Given the description of an element on the screen output the (x, y) to click on. 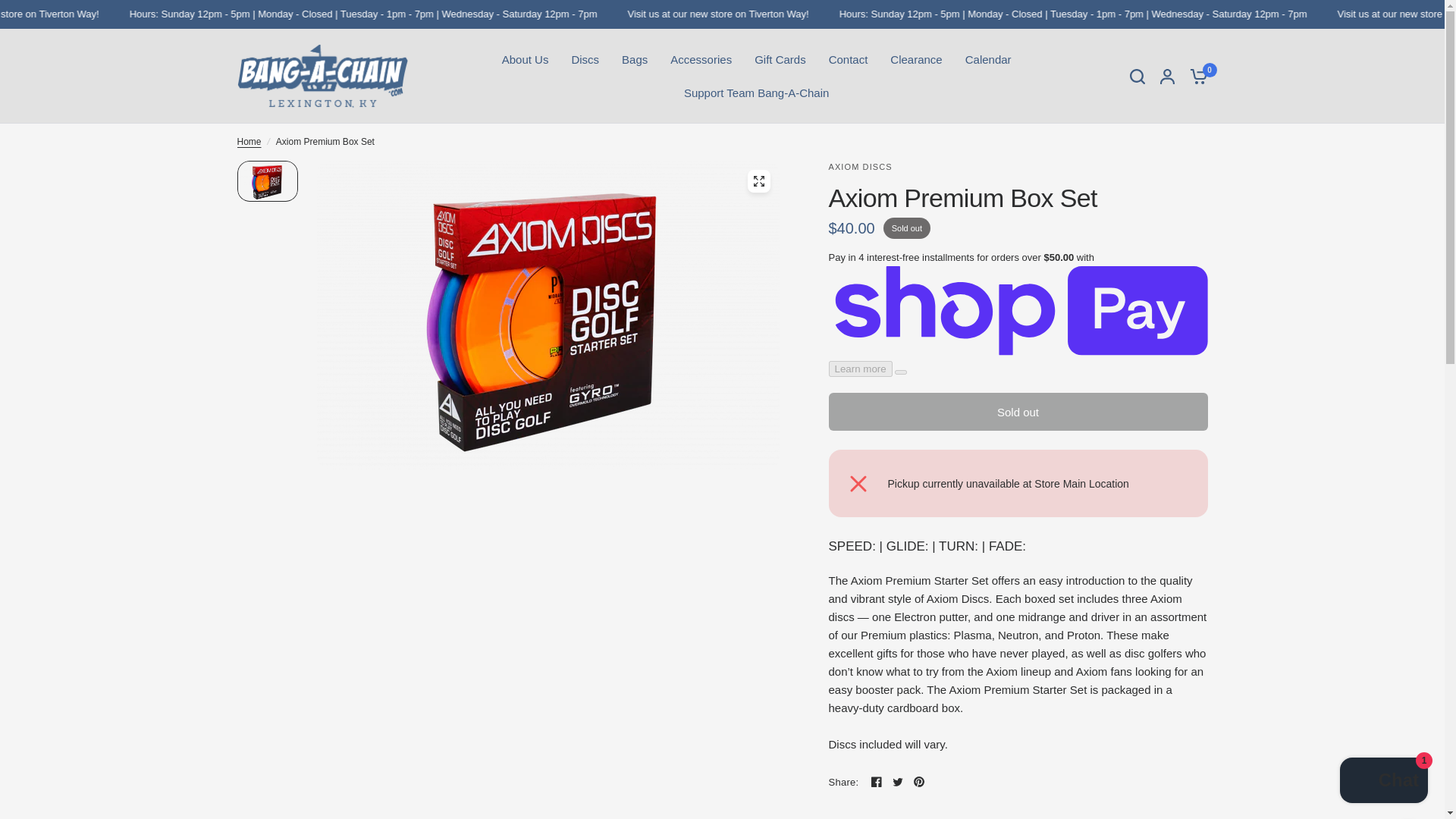
Calendar (988, 59)
Discs (584, 59)
About Us (525, 59)
Visit us at our new store on Tiverton Way! (848, 14)
Calendar (988, 59)
Support Team Bang-A-Chain (756, 93)
About Us (525, 59)
Sold out (1017, 411)
Accessories (700, 59)
Clearance (915, 59)
Visit us at our new store on Tiverton Way! (139, 14)
Clearance (915, 59)
Bags (634, 59)
Contact (847, 59)
Accessories (700, 59)
